Given the description of an element on the screen output the (x, y) to click on. 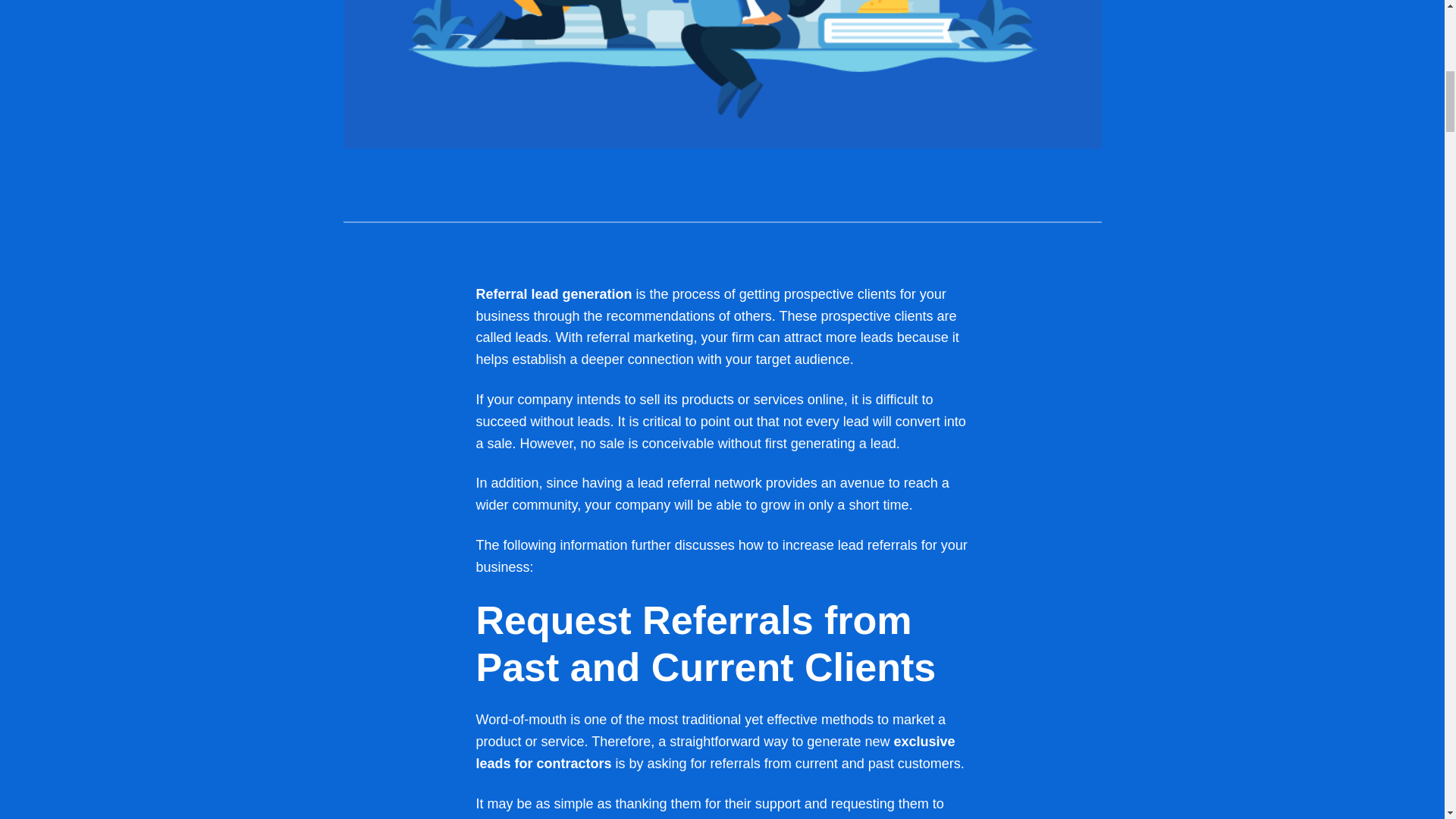
Referral lead generation (553, 294)
exclusive leads for contractors (715, 752)
